Given the description of an element on the screen output the (x, y) to click on. 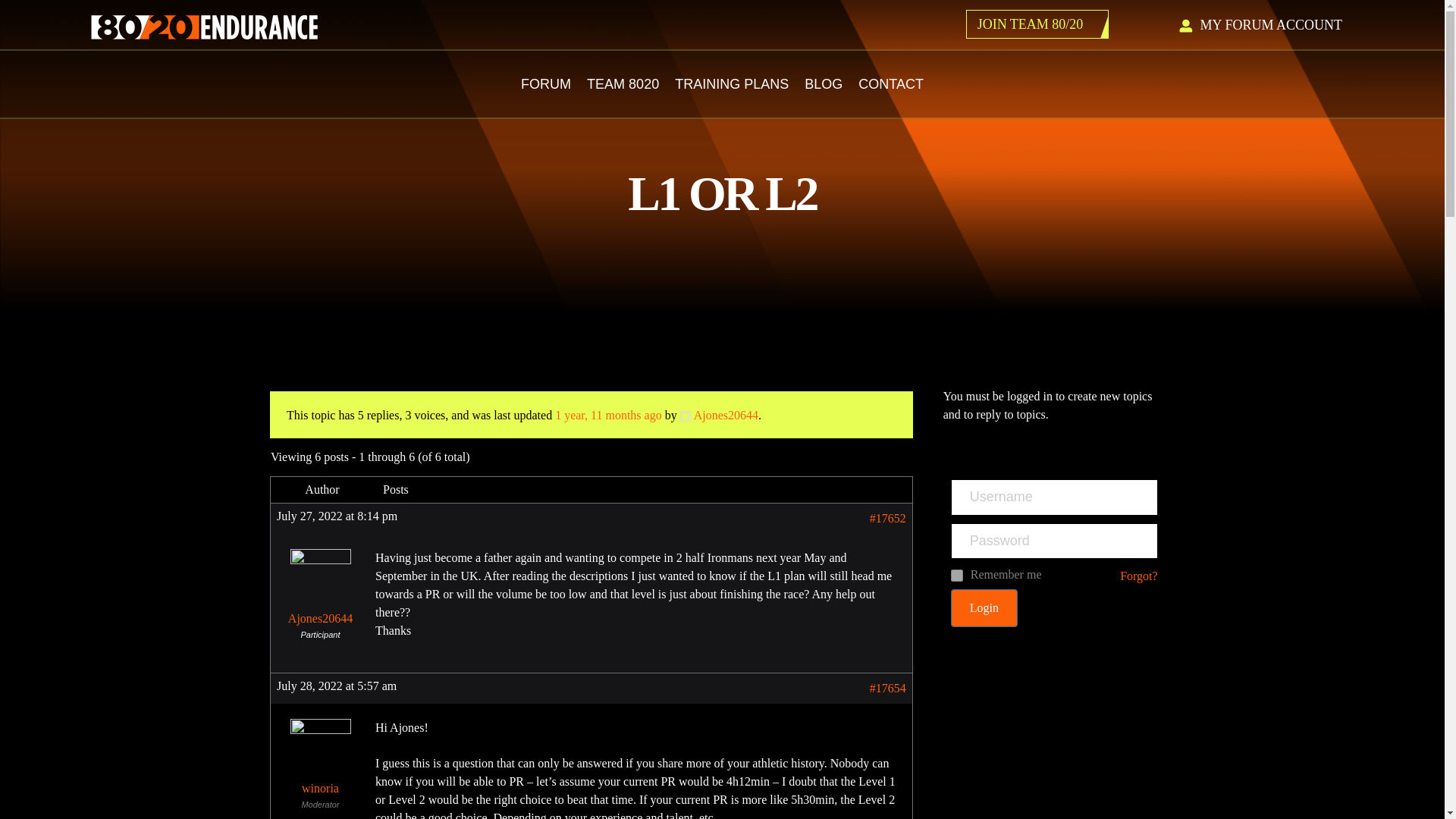
Lost Password (1138, 576)
View Ajones20644's profile (320, 590)
View Ajones20644's profile (718, 414)
1 year, 11 months ago (608, 414)
logo 8020 Endurance (203, 27)
View winoria's profile (320, 760)
winoria (320, 760)
BLOG (823, 83)
Ajones20644 (718, 414)
TEAM 8020 (622, 83)
